Given the description of an element on the screen output the (x, y) to click on. 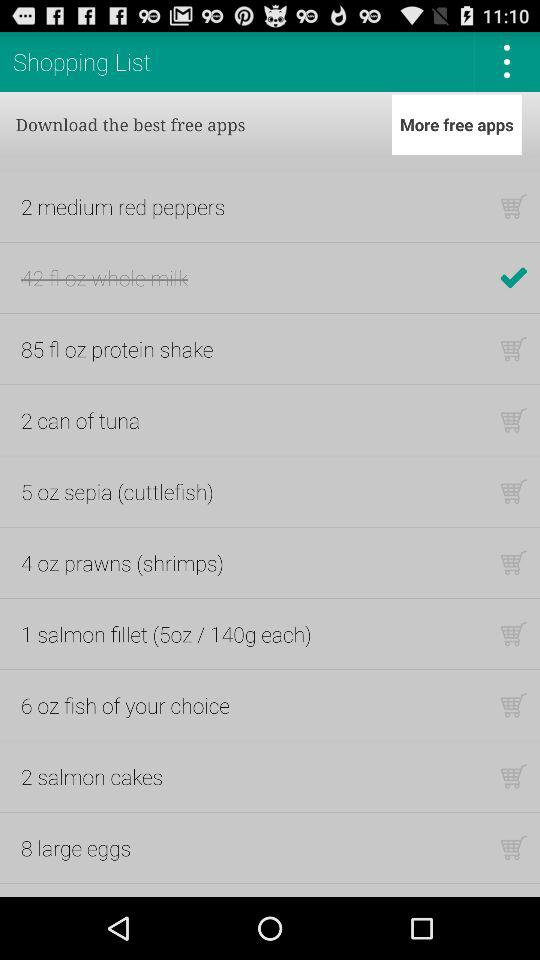
open the icon above the 4 oz prawns (117, 491)
